Given the description of an element on the screen output the (x, y) to click on. 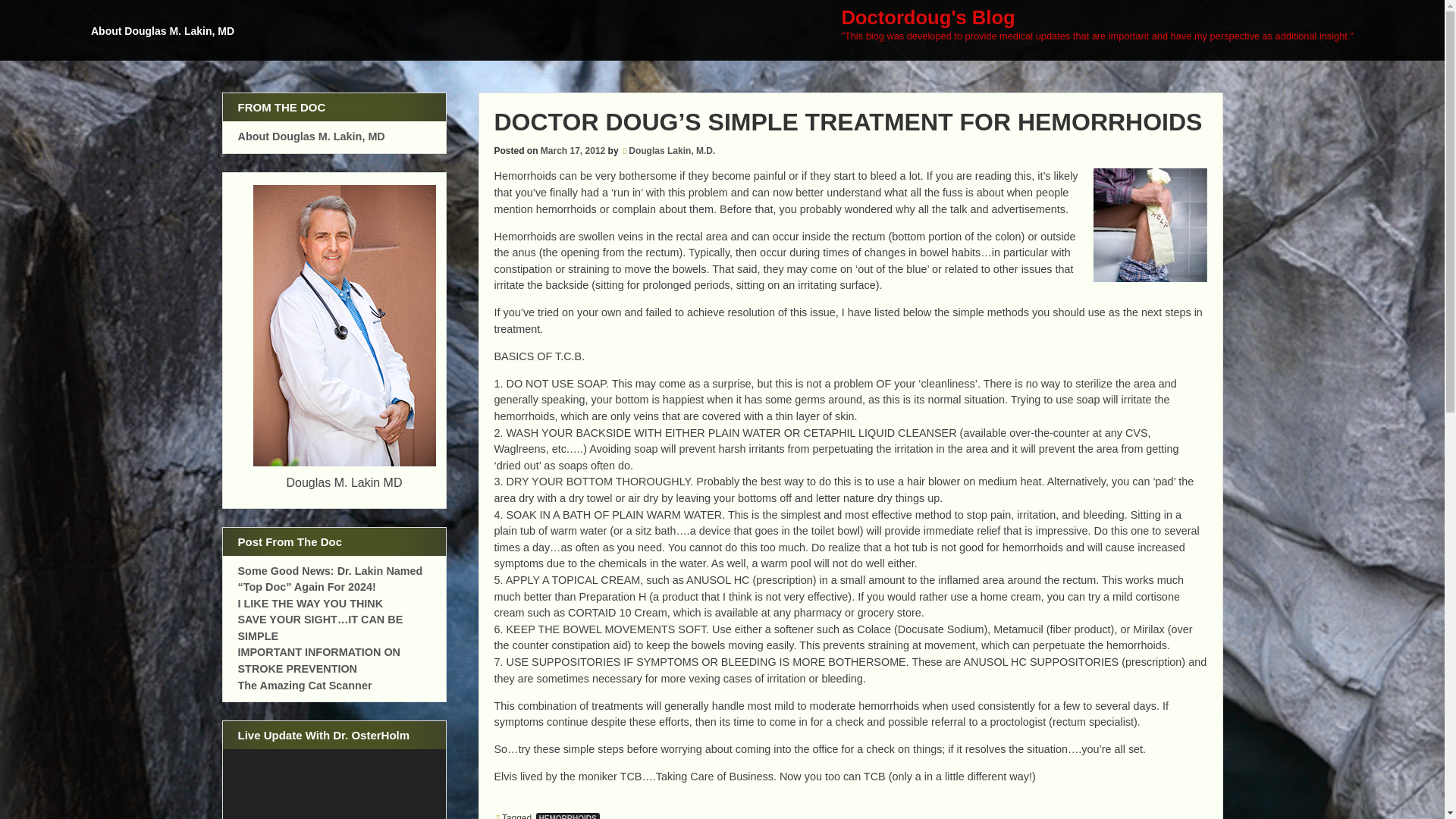
The Amazing Cat Scanner (305, 685)
Hemorrhoids (1150, 224)
Douglas Lakin, M.D. (671, 150)
IMPORTANT INFORMATION ON STROKE PREVENTION (319, 660)
About Douglas M. Lakin, MD (165, 37)
March 17, 2012 (572, 150)
HEMORRHOIDS (567, 816)
I LIKE THE WAY YOU THINK (311, 603)
Doctordoug's Blog (927, 16)
About Douglas M. Lakin, MD (311, 136)
